Given the description of an element on the screen output the (x, y) to click on. 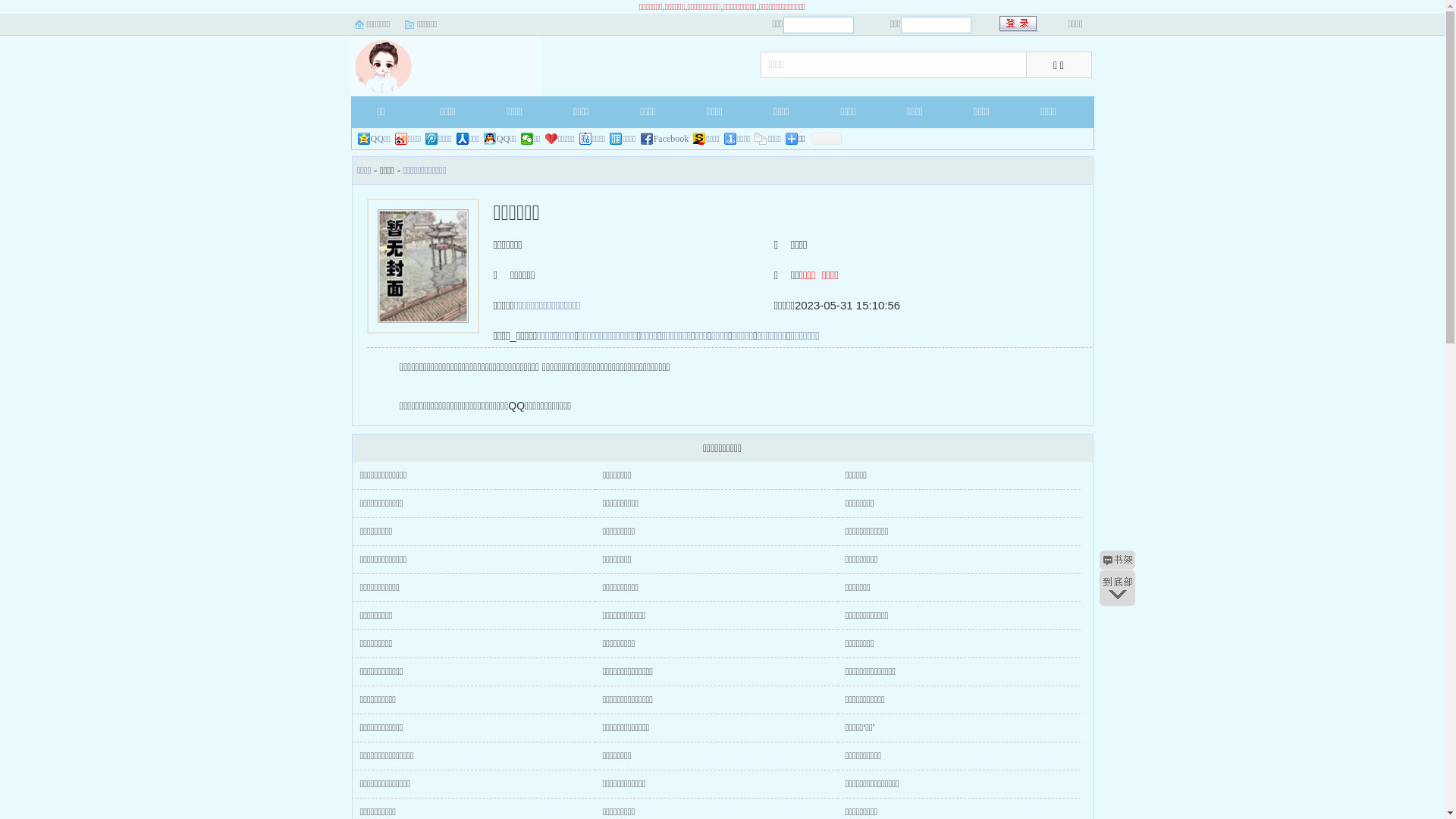
Facebook Element type: text (664, 138)
